Given the description of an element on the screen output the (x, y) to click on. 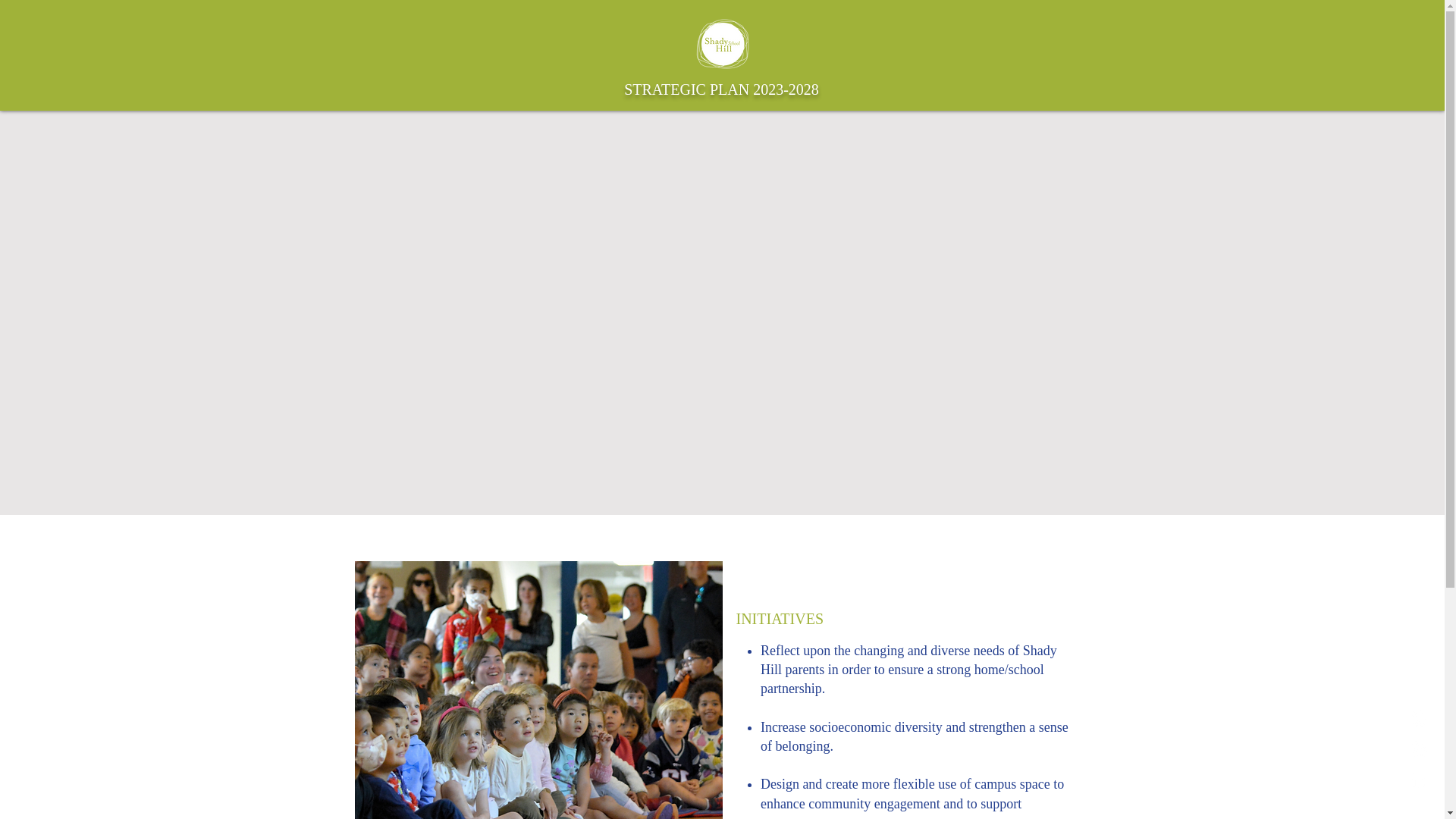
White Circle Logo Clear.png (722, 43)
